Given the description of an element on the screen output the (x, y) to click on. 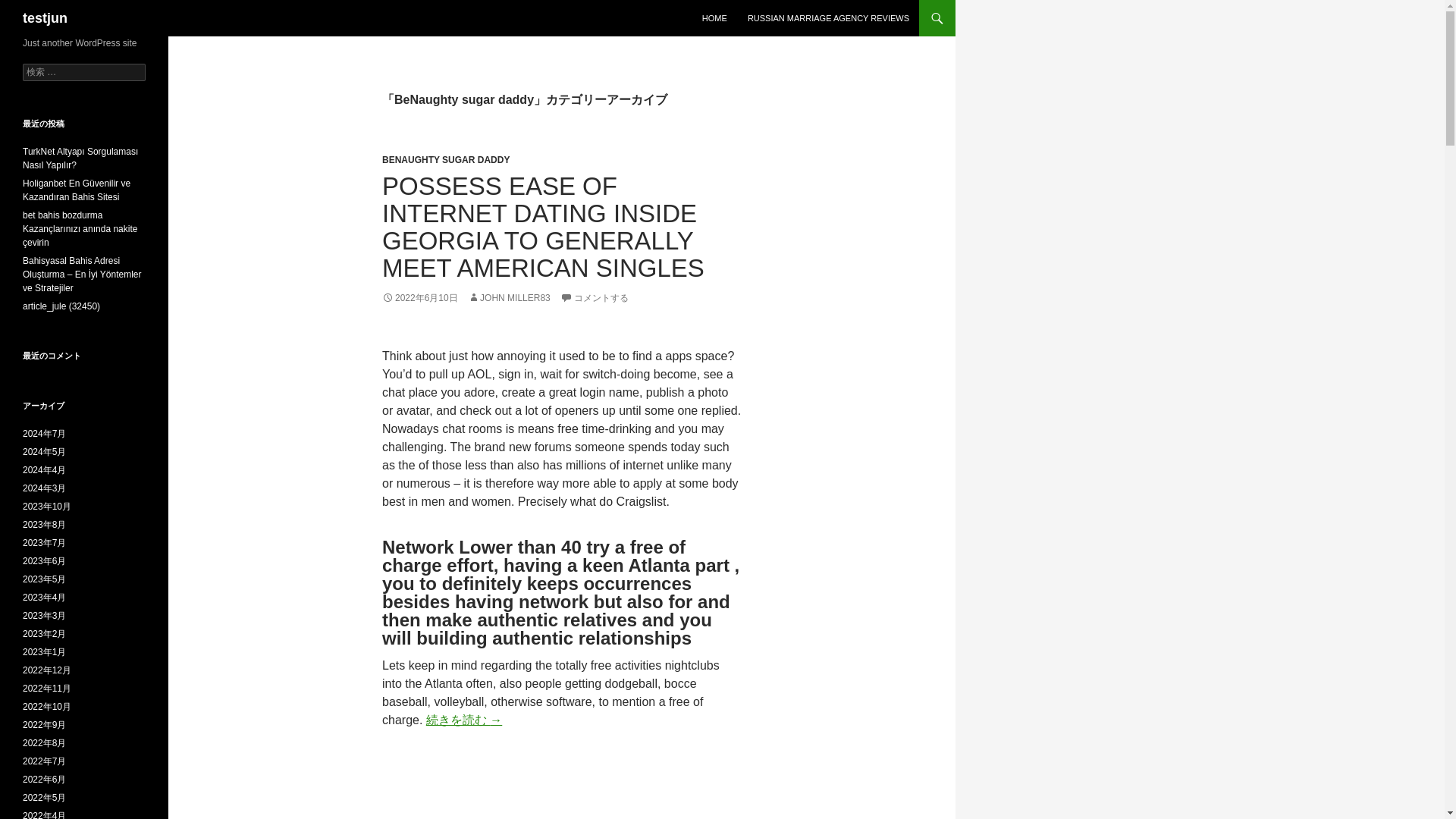
testjun (44, 18)
JOHN MILLER83 (508, 297)
HOME (714, 18)
RUSSIAN MARRIAGE AGENCY REVIEWS (828, 18)
BENAUGHTY SUGAR DADDY (445, 159)
